Given the description of an element on the screen output the (x, y) to click on. 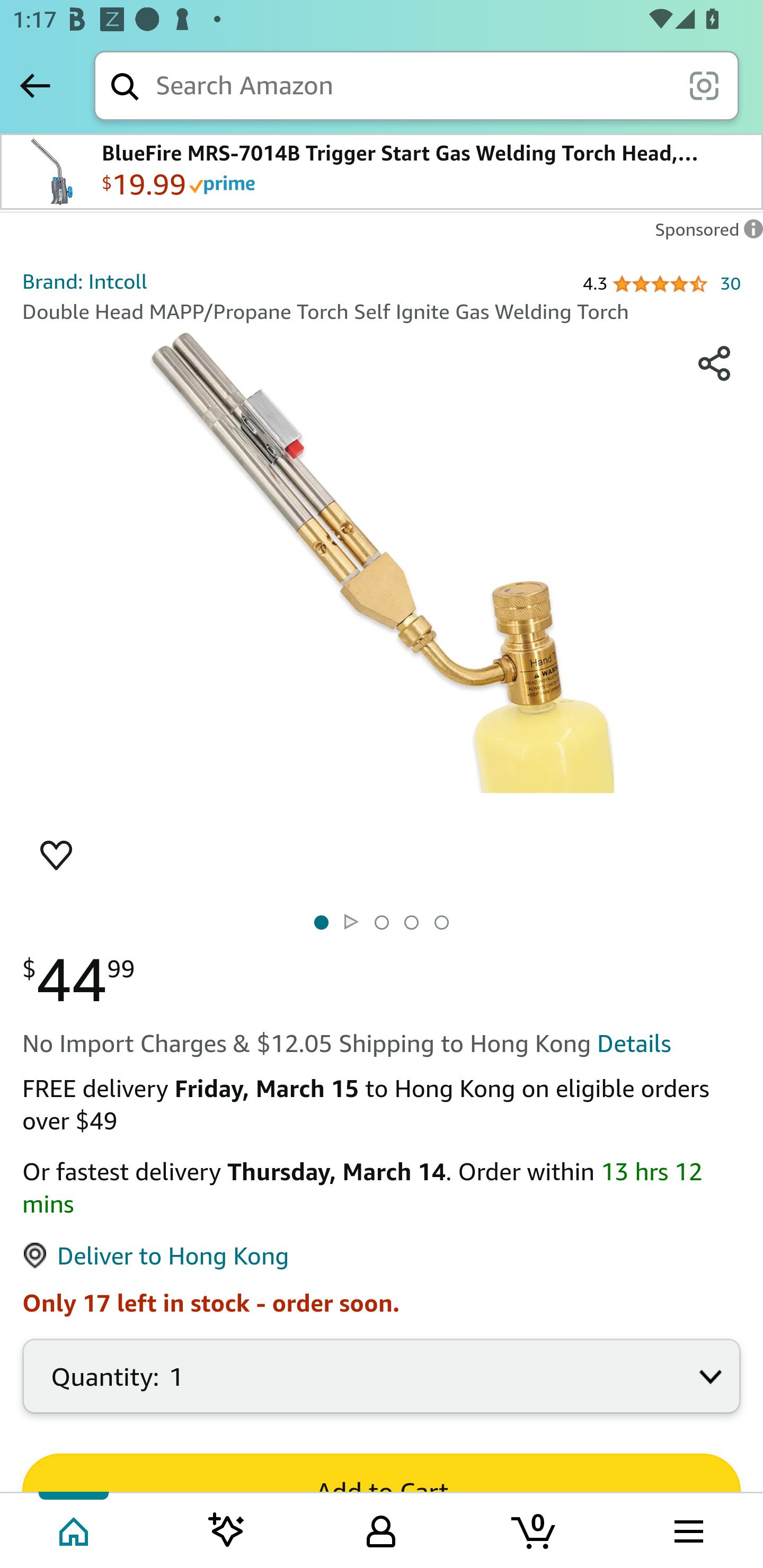
Home (76, 1526)
Search events (228, 1526)
Favorites (381, 1526)
Tickets (533, 1526)
More (686, 1526)
